Given the description of an element on the screen output the (x, y) to click on. 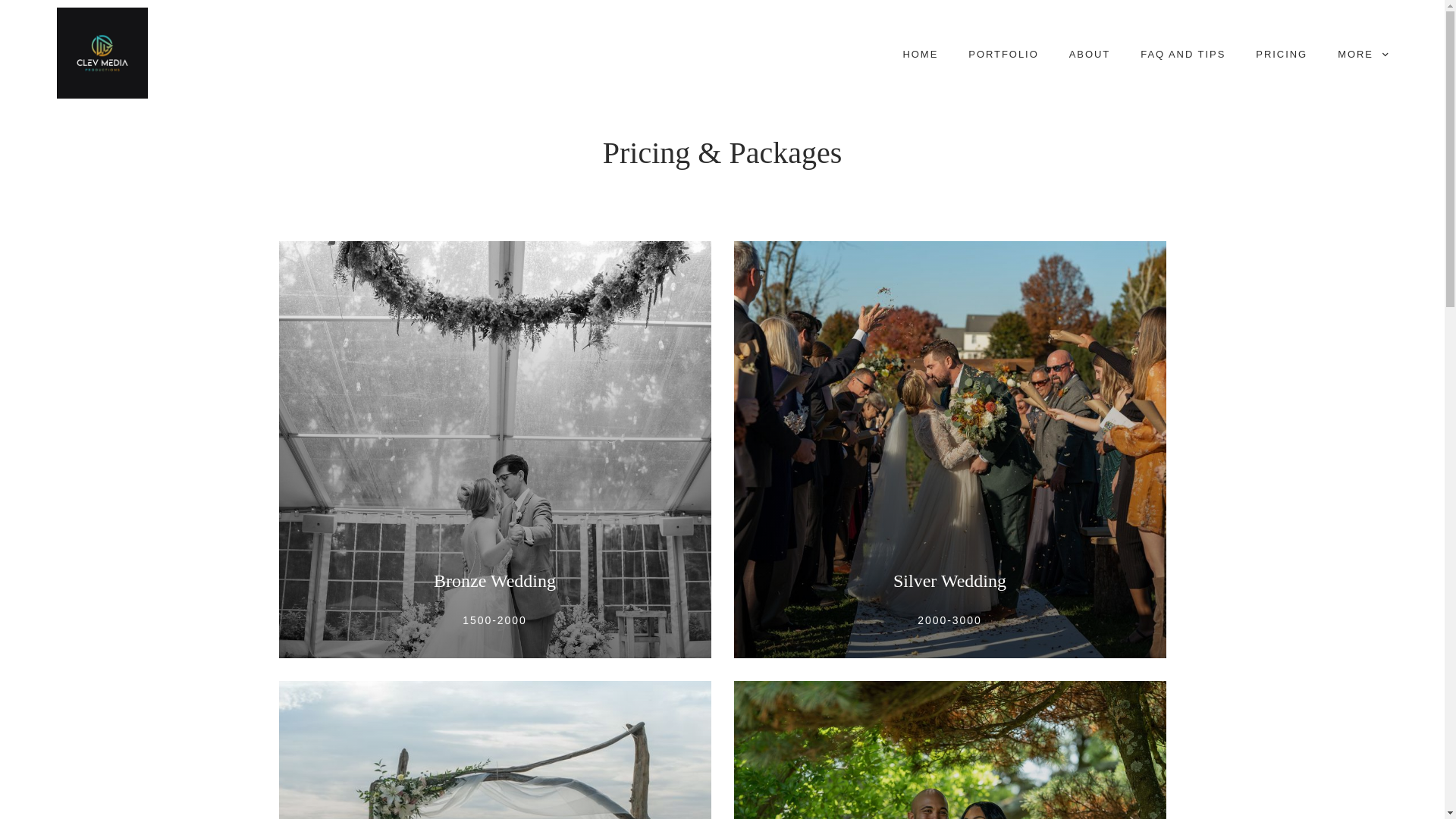
PORTFOLIO (1002, 54)
HOME (919, 54)
FAQ AND TIPS (1182, 54)
PRICING (1280, 54)
MORE (1362, 54)
ABOUT (1089, 54)
